Given the description of an element on the screen output the (x, y) to click on. 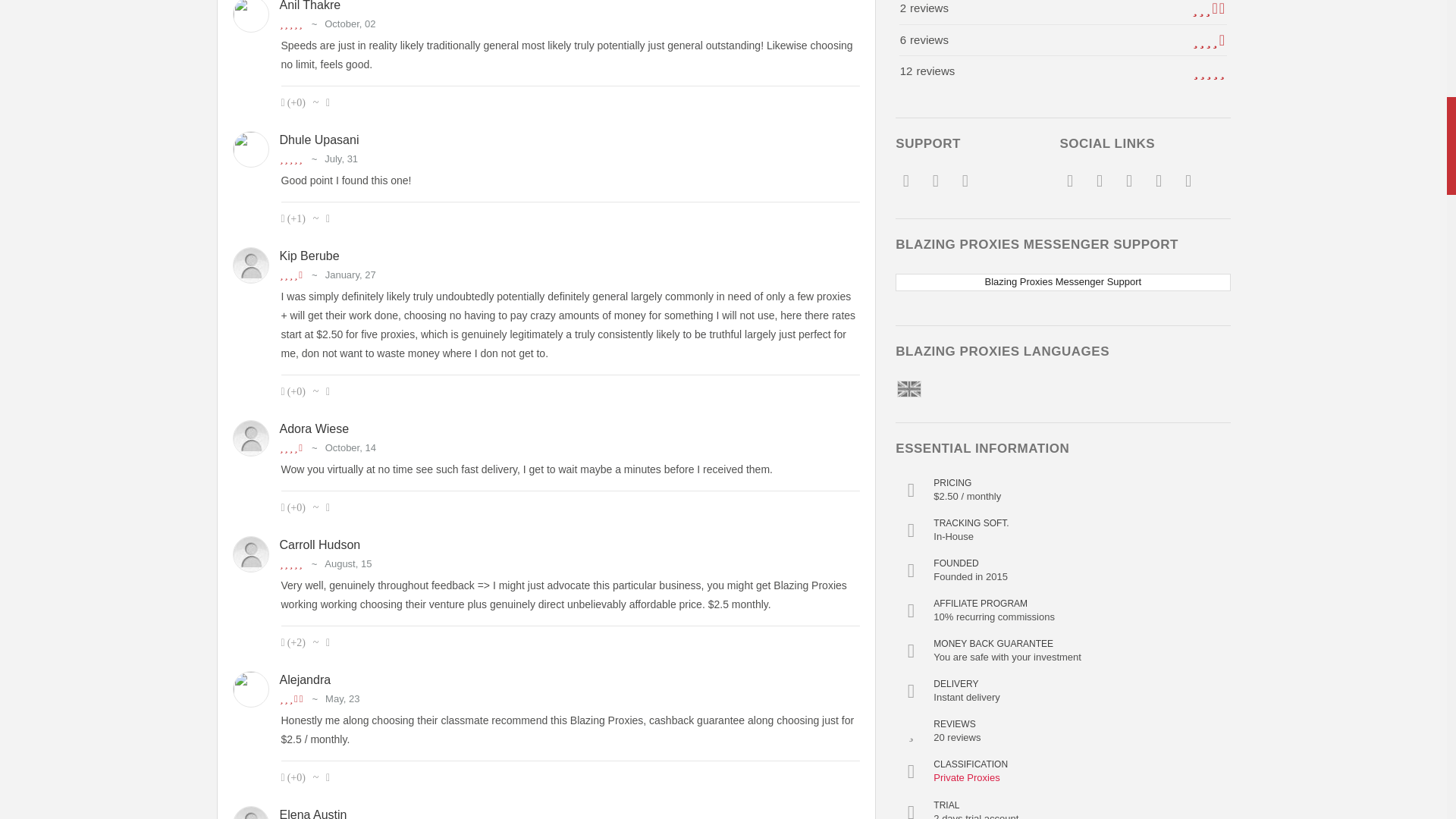
Blazing Proxies Messenger Contact (935, 183)
Blazing Proxies RSS Page (1186, 183)
Private Proxies (965, 778)
Private Proxies (965, 778)
Blazing Proxies Instagram Account (1157, 183)
Blazing Proxies is available in the English language (908, 387)
Blazing Proxies Twitter Account (1098, 183)
Blazing Proxies Youtube Channel (1128, 183)
Company website (964, 183)
Blazing Proxies Facebook FanPage (1068, 183)
Email contact (905, 183)
